Given the description of an element on the screen output the (x, y) to click on. 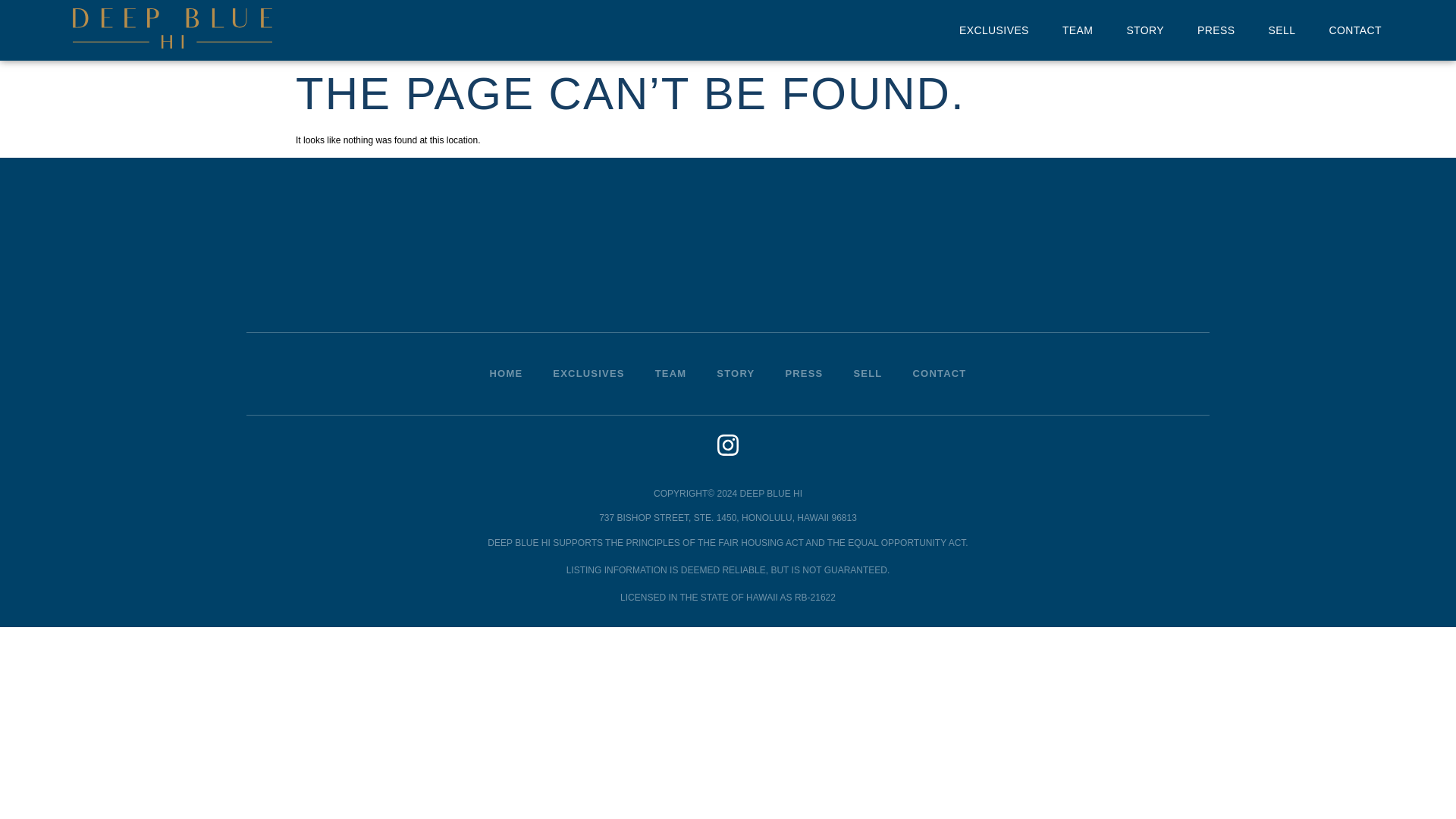
SELL (867, 373)
PRESS (804, 373)
SELL (1281, 30)
STORY (735, 373)
CONTACT (939, 373)
CONTACT (1353, 30)
TEAM (670, 373)
HOME (506, 373)
EXCLUSIVES (994, 30)
TEAM (1077, 30)
EXCLUSIVES (588, 373)
STORY (1144, 30)
PRESS (1215, 30)
